Given the description of an element on the screen output the (x, y) to click on. 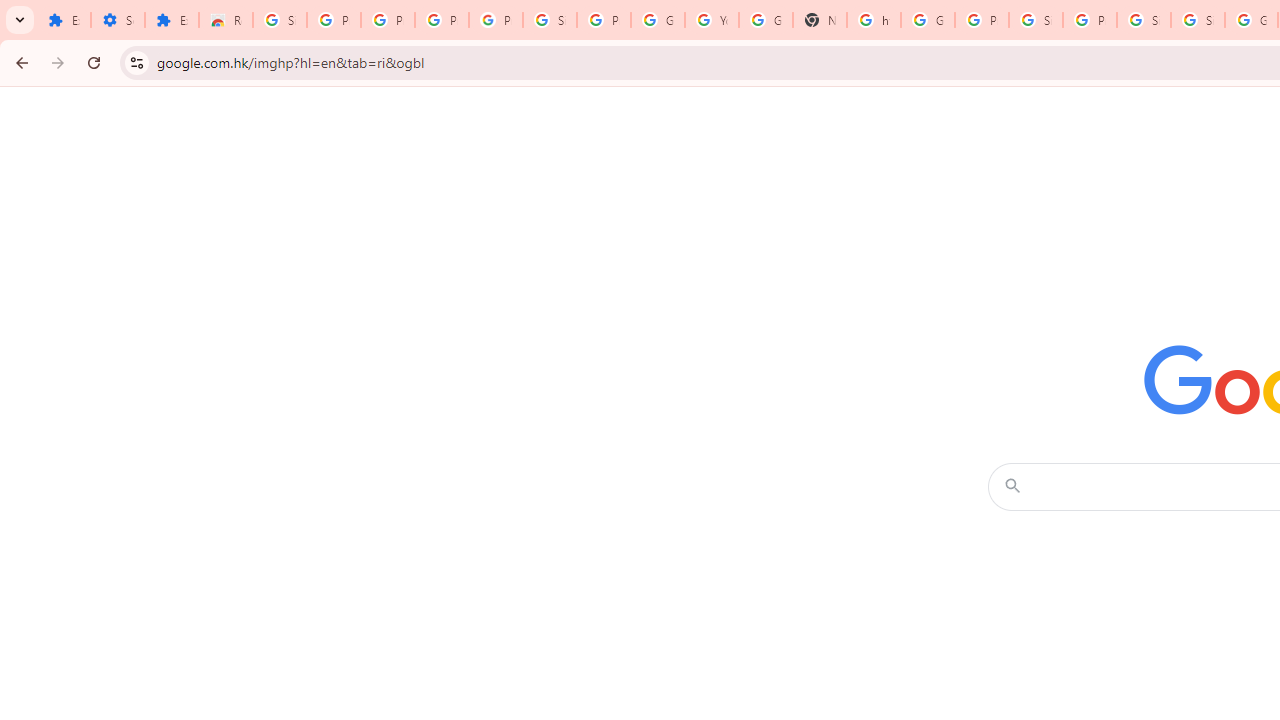
Extensions (171, 20)
Reviews: Helix Fruit Jump Arcade Game (225, 20)
Extensions (63, 20)
